Given the description of an element on the screen output the (x, y) to click on. 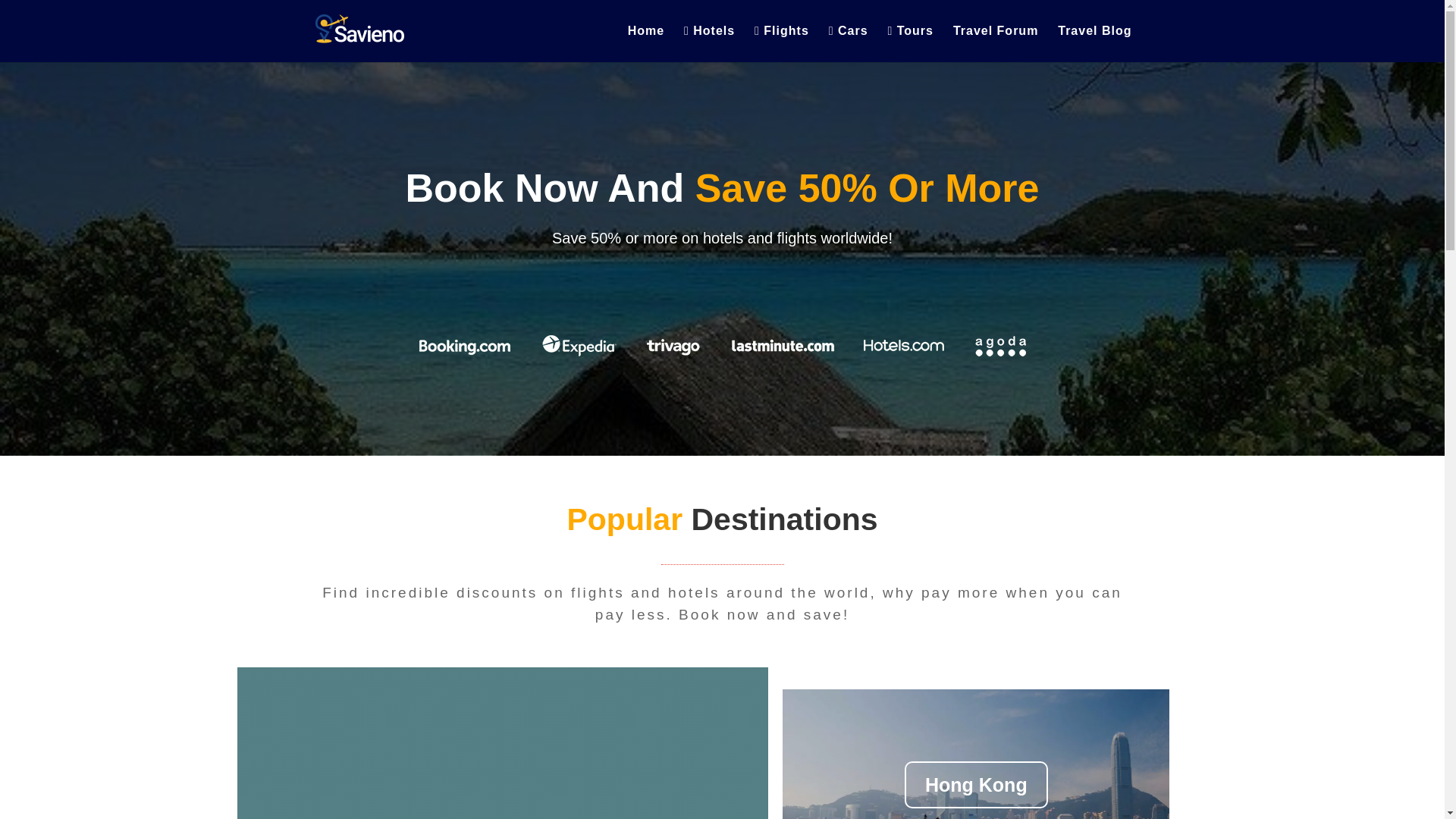
About (45, 80)
Home (44, 66)
Contact (49, 93)
